Given the description of an element on the screen output the (x, y) to click on. 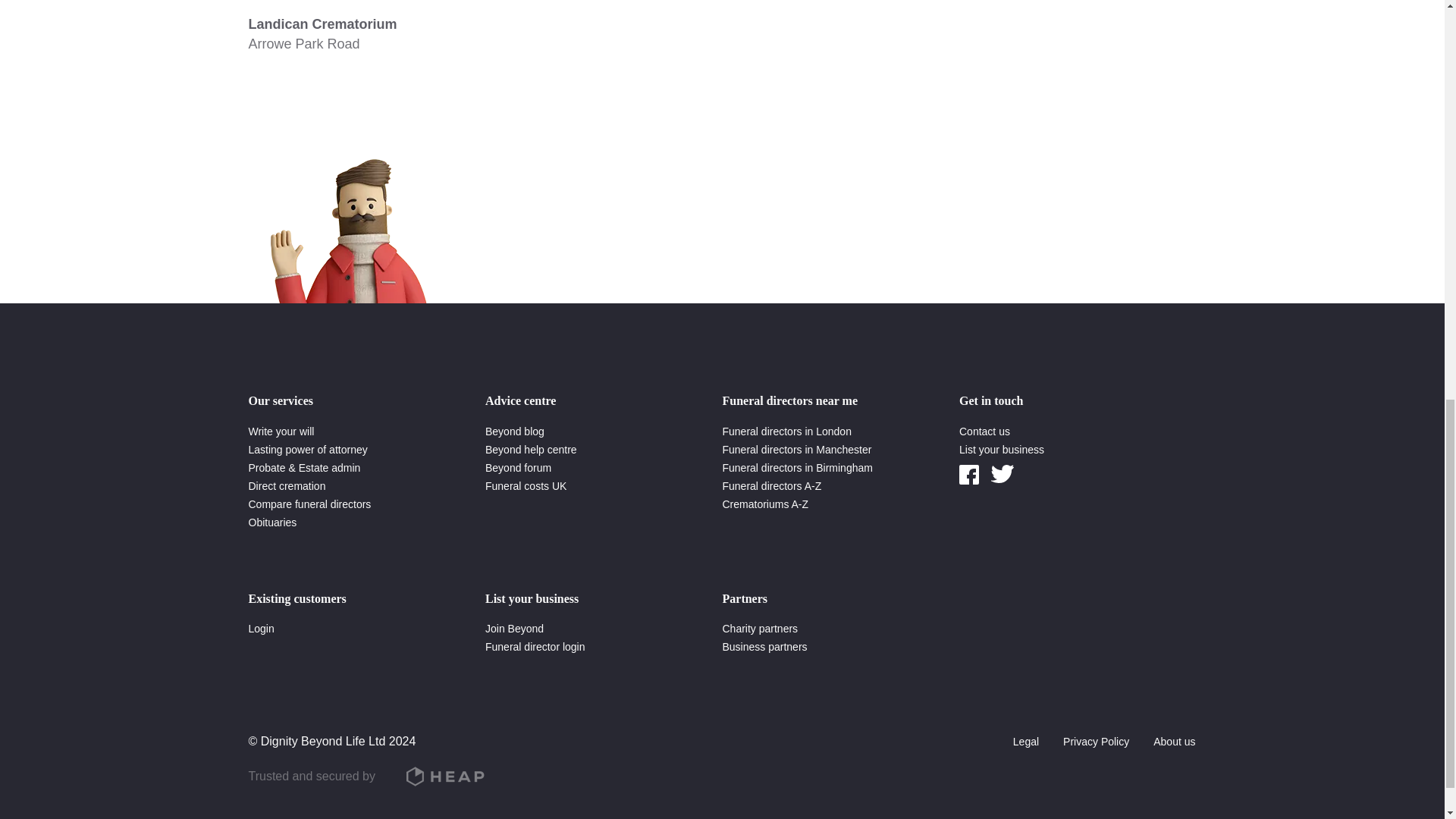
Write your will (281, 431)
Lasting power of attorney (308, 449)
